Given the description of an element on the screen output the (x, y) to click on. 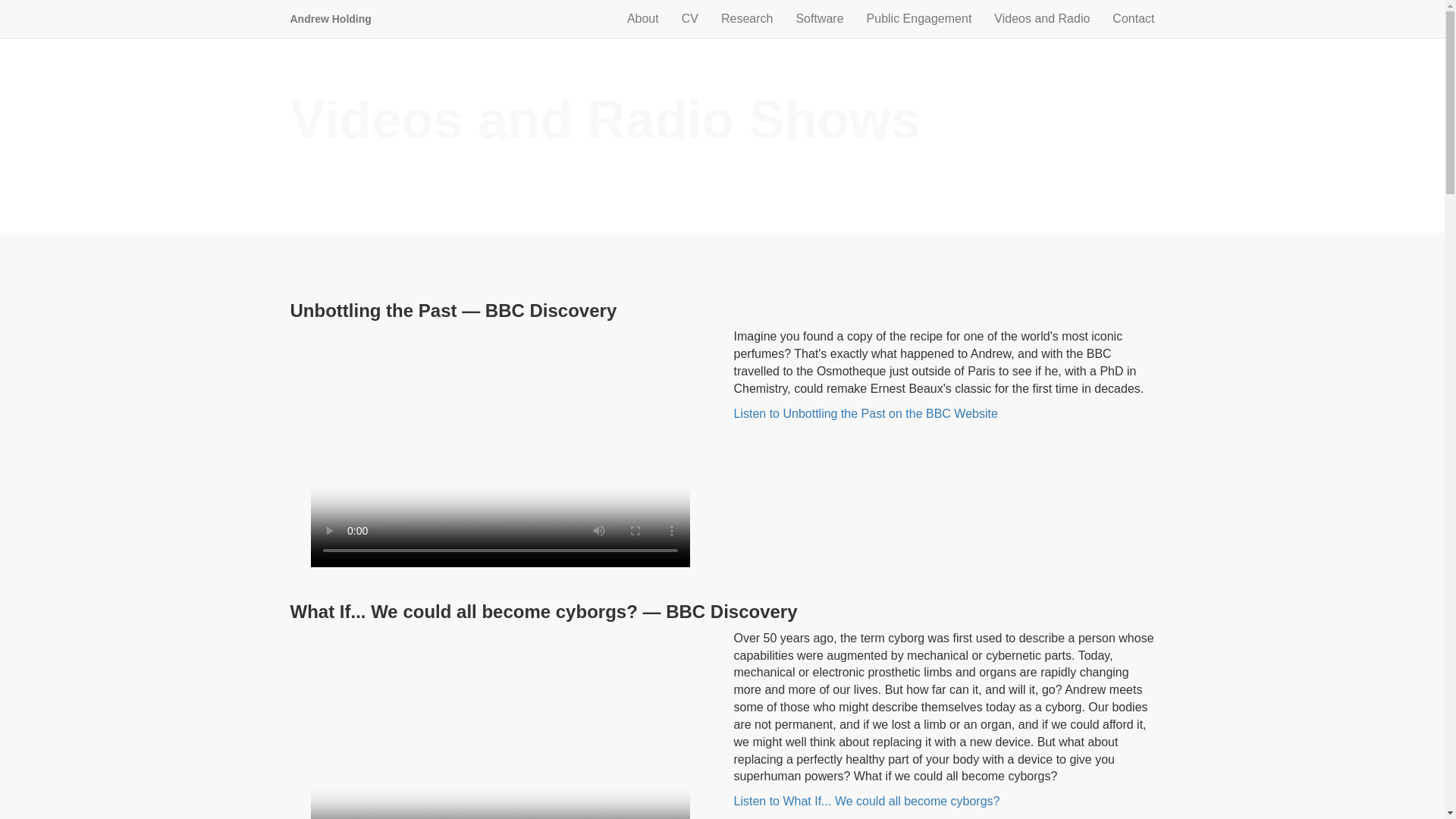
Listen to Unbottling the Past on the BBC Website (865, 413)
Andrew Holding (330, 18)
CV (689, 18)
Videos and Radio (1041, 18)
Listen to What If... We could all become cyborgs? (866, 800)
Contact (1133, 18)
Research (747, 18)
Public Engagement (920, 18)
Software (819, 18)
About (642, 18)
